Given the description of an element on the screen output the (x, y) to click on. 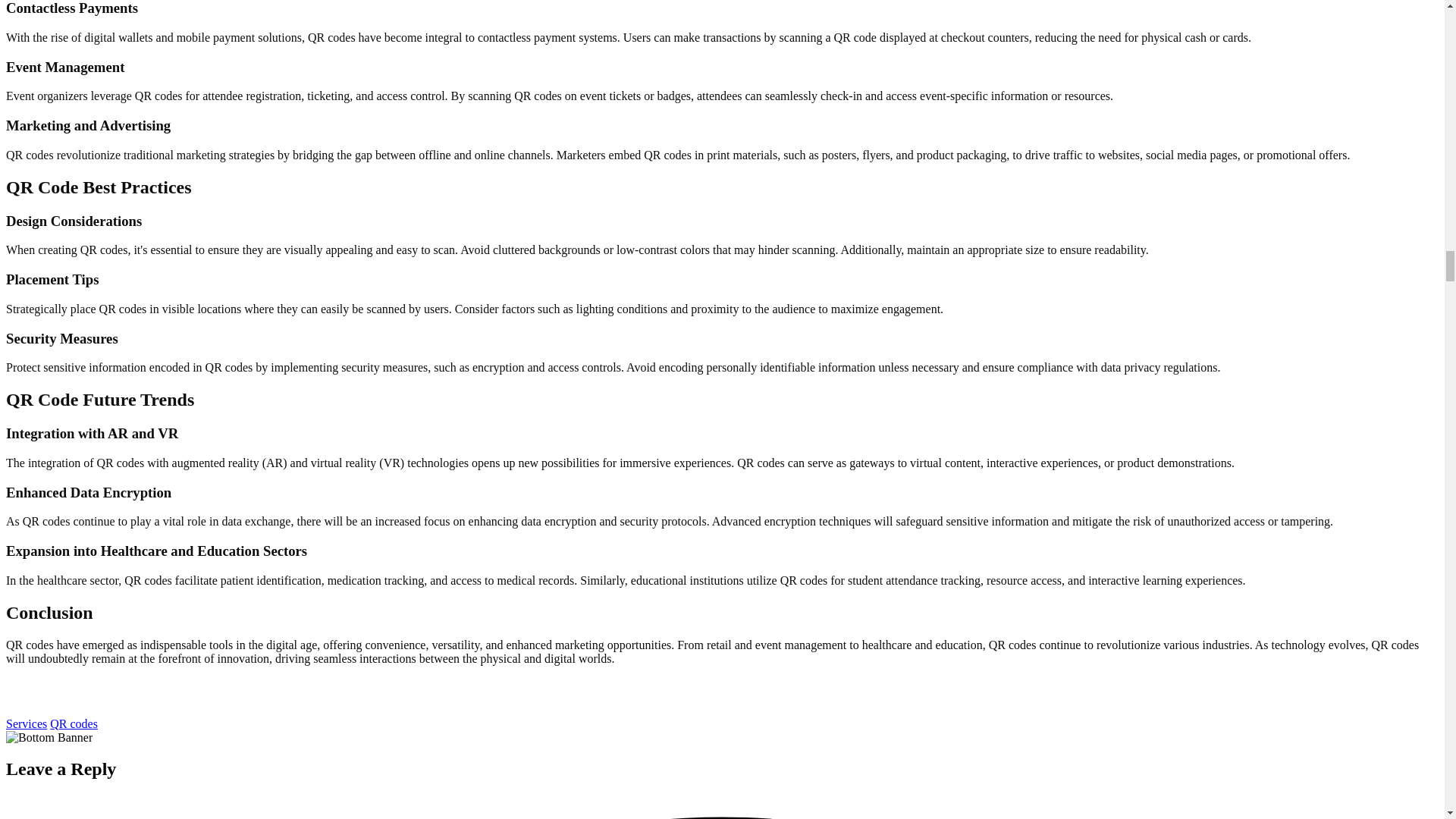
QR codes (73, 723)
Services (25, 723)
Bottom Banner (49, 737)
